Given the description of an element on the screen output the (x, y) to click on. 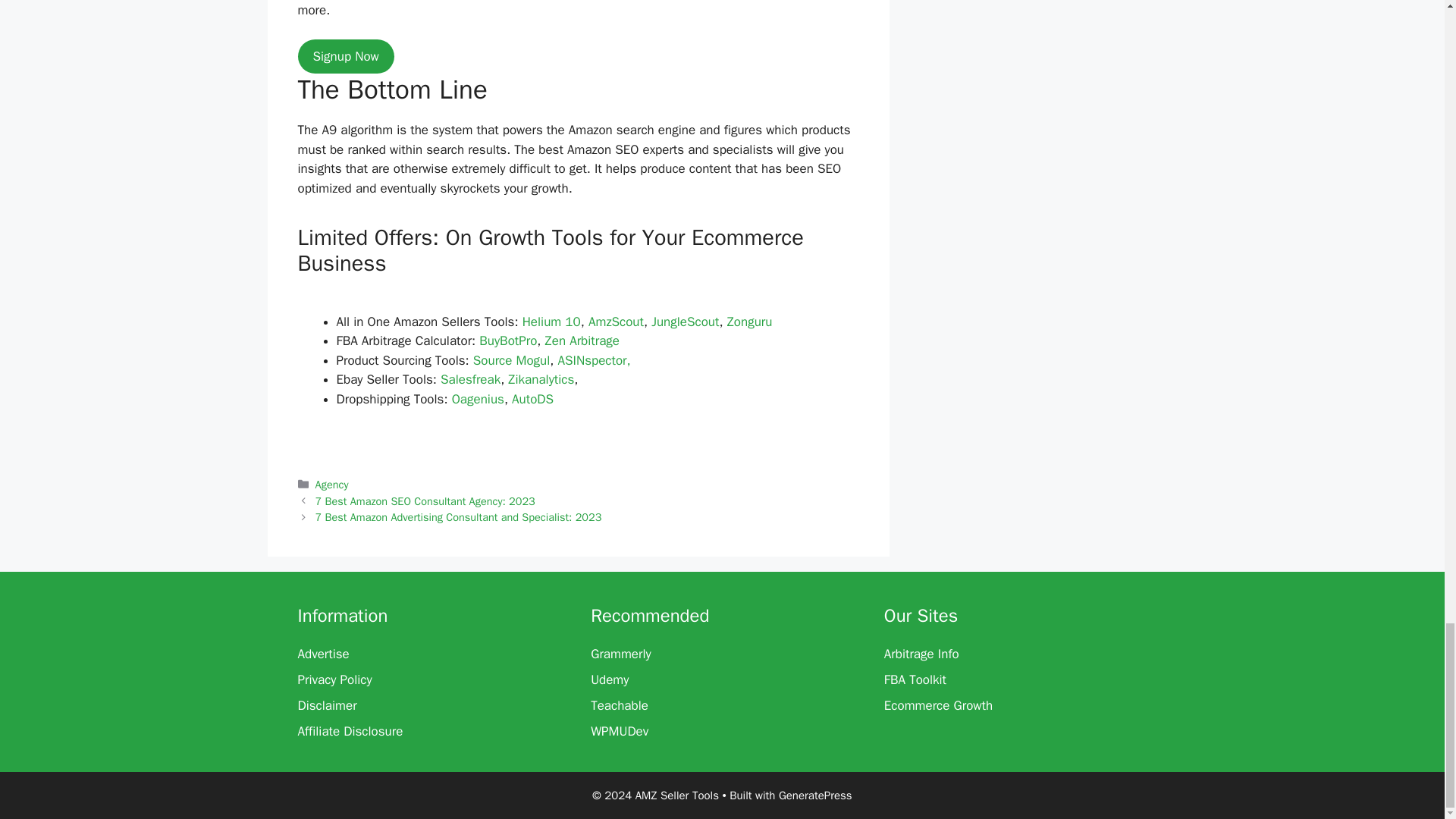
JungleScout (684, 321)
BuyBotPro (508, 340)
Zonguru (749, 321)
Salesfreak (470, 379)
AmzScout (615, 321)
Zen Arbitrage (582, 340)
Helium 10 (551, 321)
Source Mogul (511, 360)
Signup Now (345, 56)
ASINspector, (593, 360)
